Given the description of an element on the screen output the (x, y) to click on. 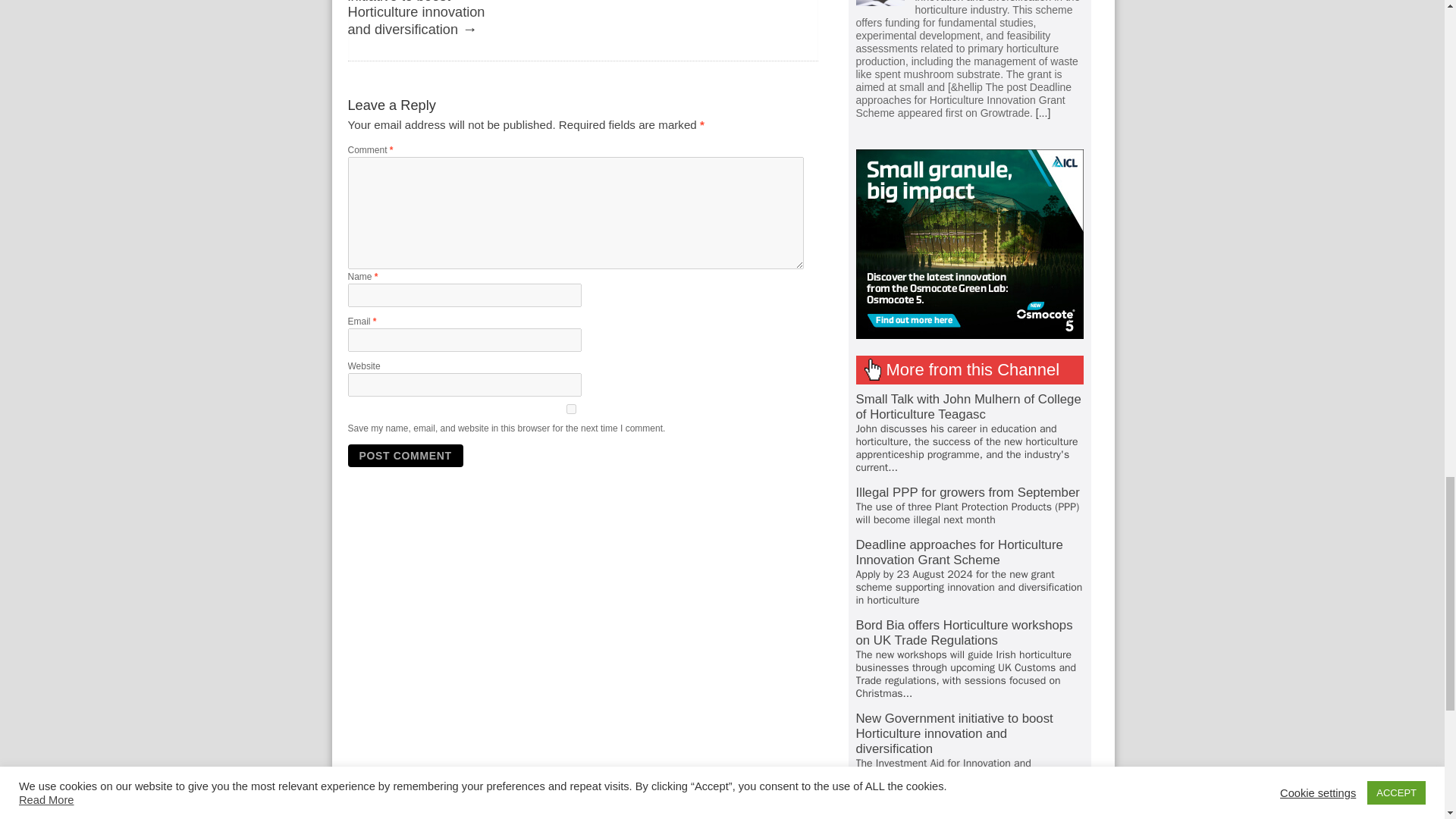
Post Comment (405, 455)
yes (570, 409)
Read more (1042, 112)
